Given the description of an element on the screen output the (x, y) to click on. 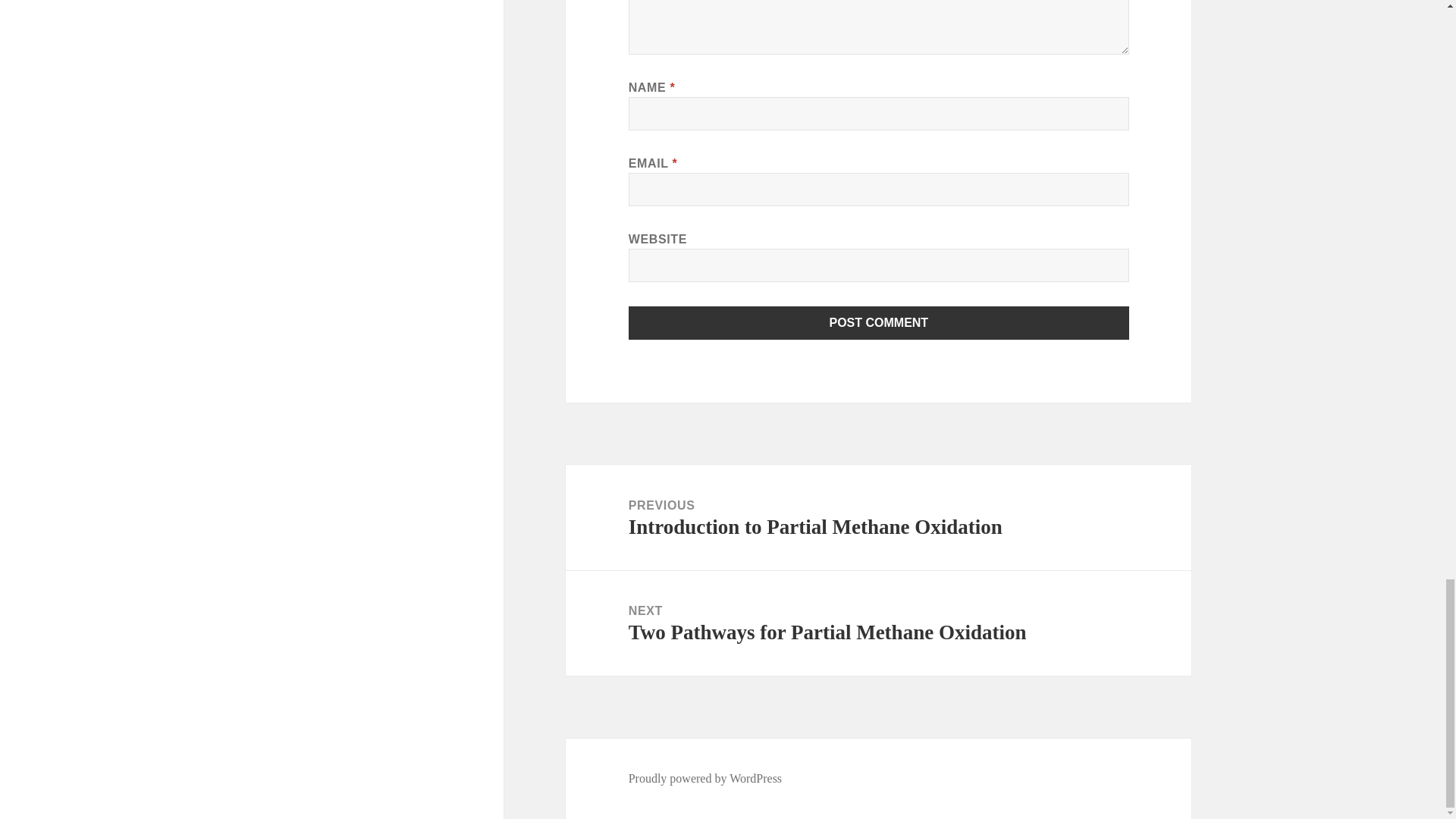
Post Comment (878, 322)
Proudly powered by WordPress (878, 623)
Post Comment (704, 778)
